Given the description of an element on the screen output the (x, y) to click on. 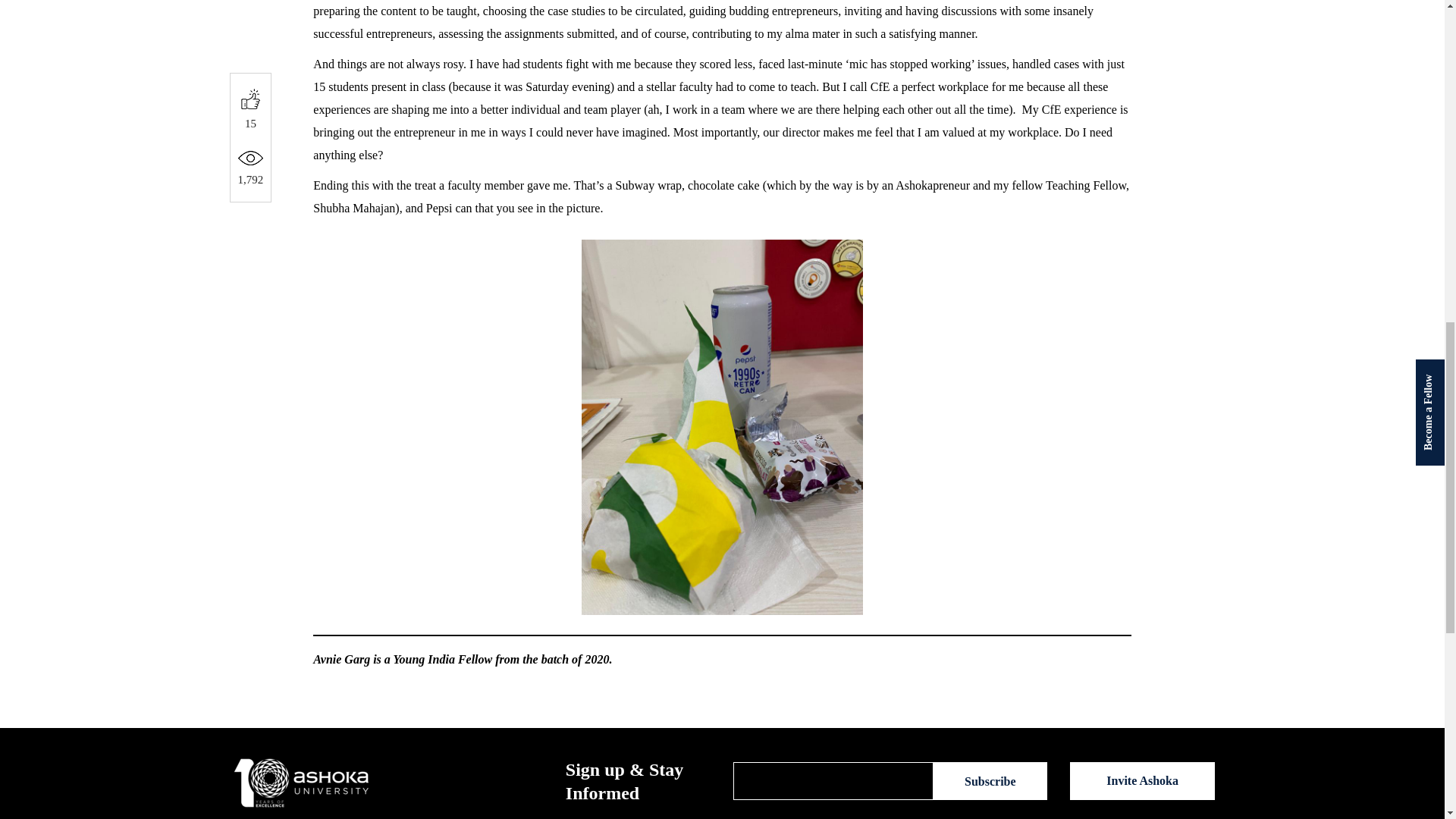
Subscribe (989, 781)
